Given the description of an element on the screen output the (x, y) to click on. 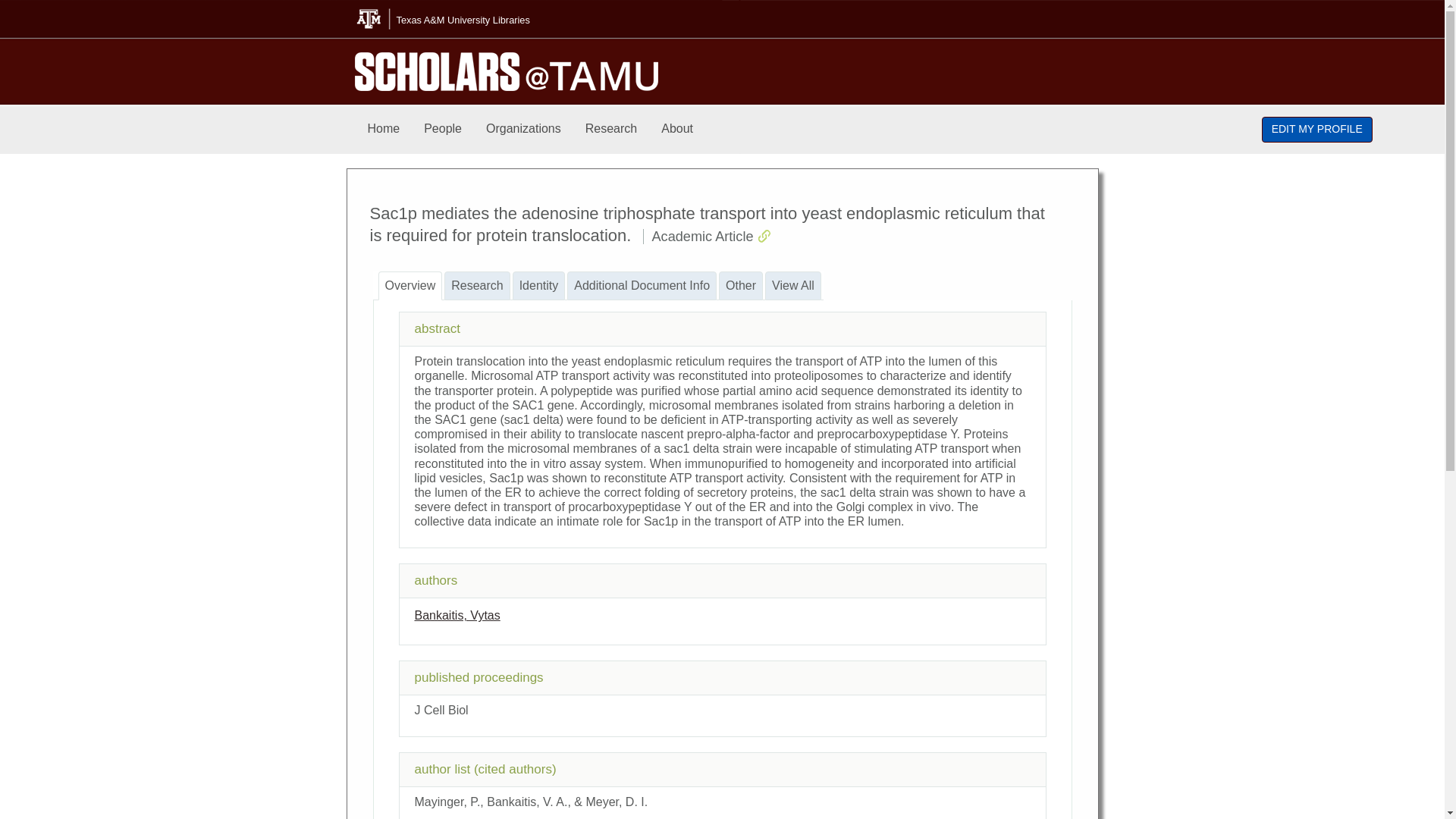
Home (383, 128)
Home menu item (383, 128)
People menu item (443, 128)
author name (456, 615)
Research menu item (611, 128)
Organizations menu item (523, 128)
About menu item (676, 128)
EDIT MY PROFILE (1317, 129)
Organizations (523, 128)
Bankaitis, Vytas (456, 615)
About (676, 128)
Research (611, 128)
People (443, 128)
